Given the description of an element on the screen output the (x, y) to click on. 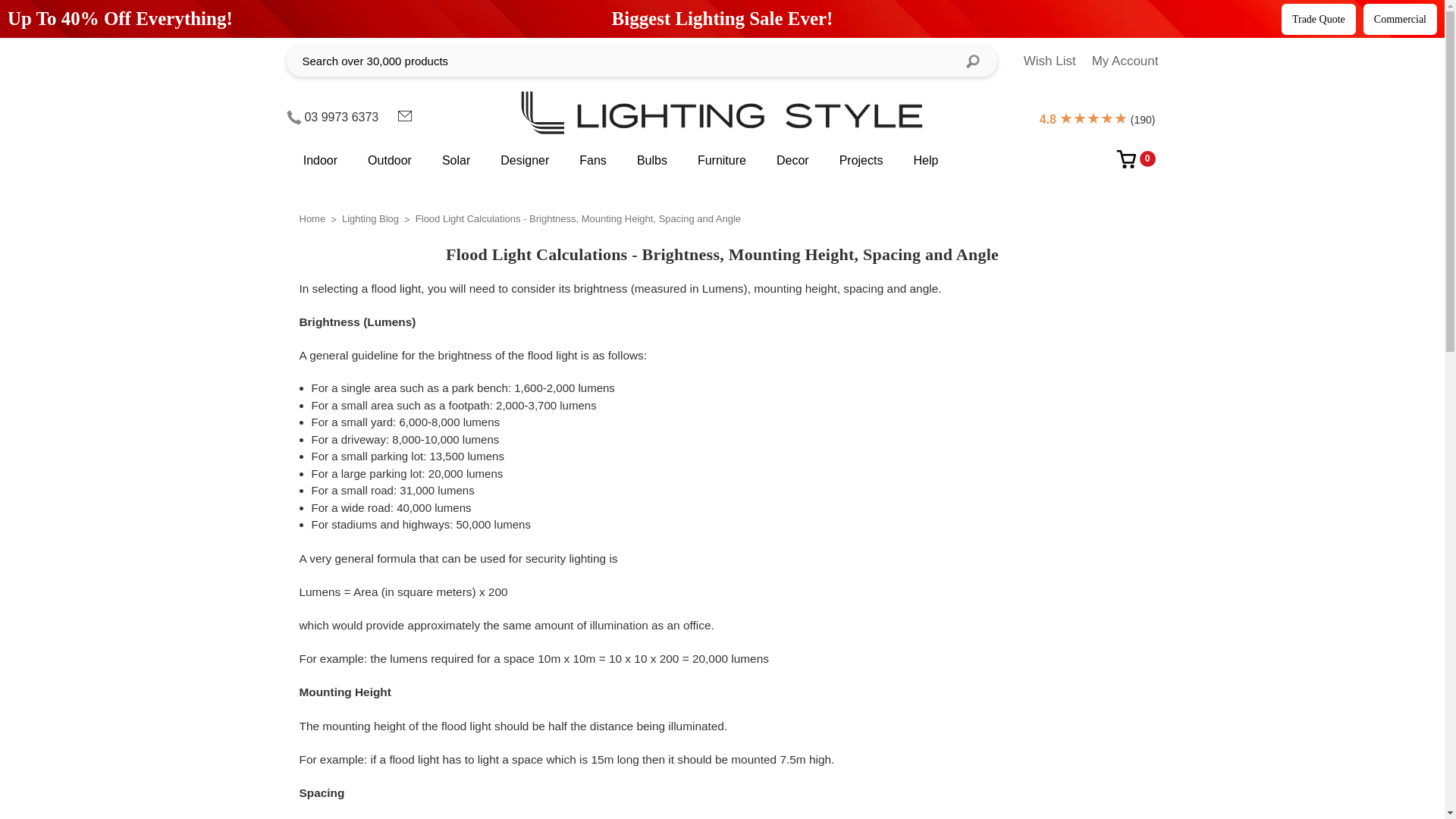
Wish List (1049, 60)
Trade Quote (1318, 18)
Commercial (1399, 18)
My Account (1125, 60)
